Given the description of an element on the screen output the (x, y) to click on. 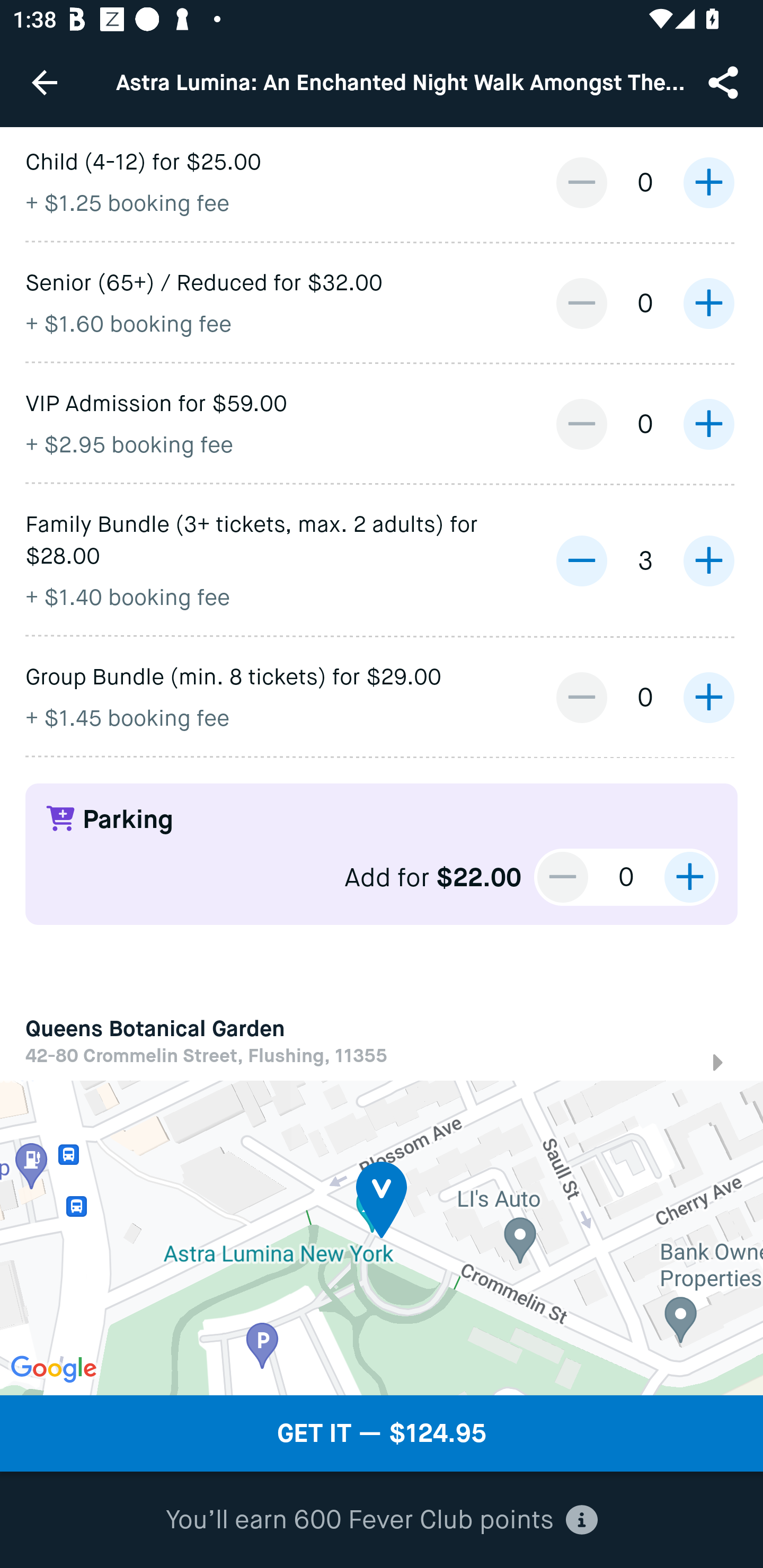
Navigate up (44, 82)
Share (724, 81)
decrease (581, 182)
increase (708, 182)
decrease (581, 302)
increase (708, 302)
decrease (581, 423)
increase (708, 423)
decrease (581, 560)
increase (708, 560)
decrease (581, 697)
increase (708, 697)
decrease (562, 876)
increase (689, 876)
Google Map Map Marker (381, 1237)
GET IT — $124.95 (381, 1433)
You’ll earn 600 Fever Club points (381, 1519)
